Given the description of an element on the screen output the (x, y) to click on. 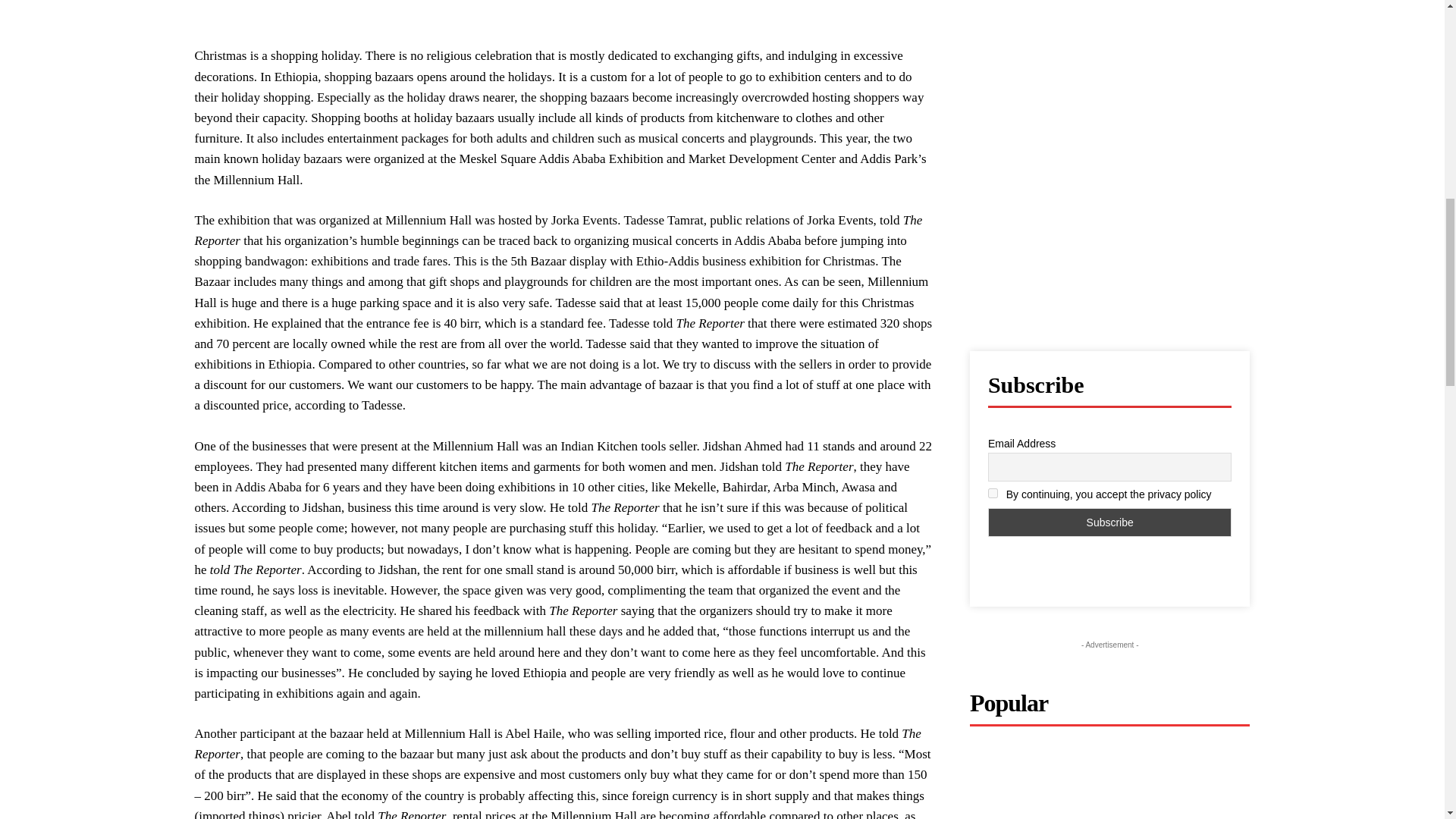
Subscribe (1109, 522)
on (992, 492)
